Given the description of an element on the screen output the (x, y) to click on. 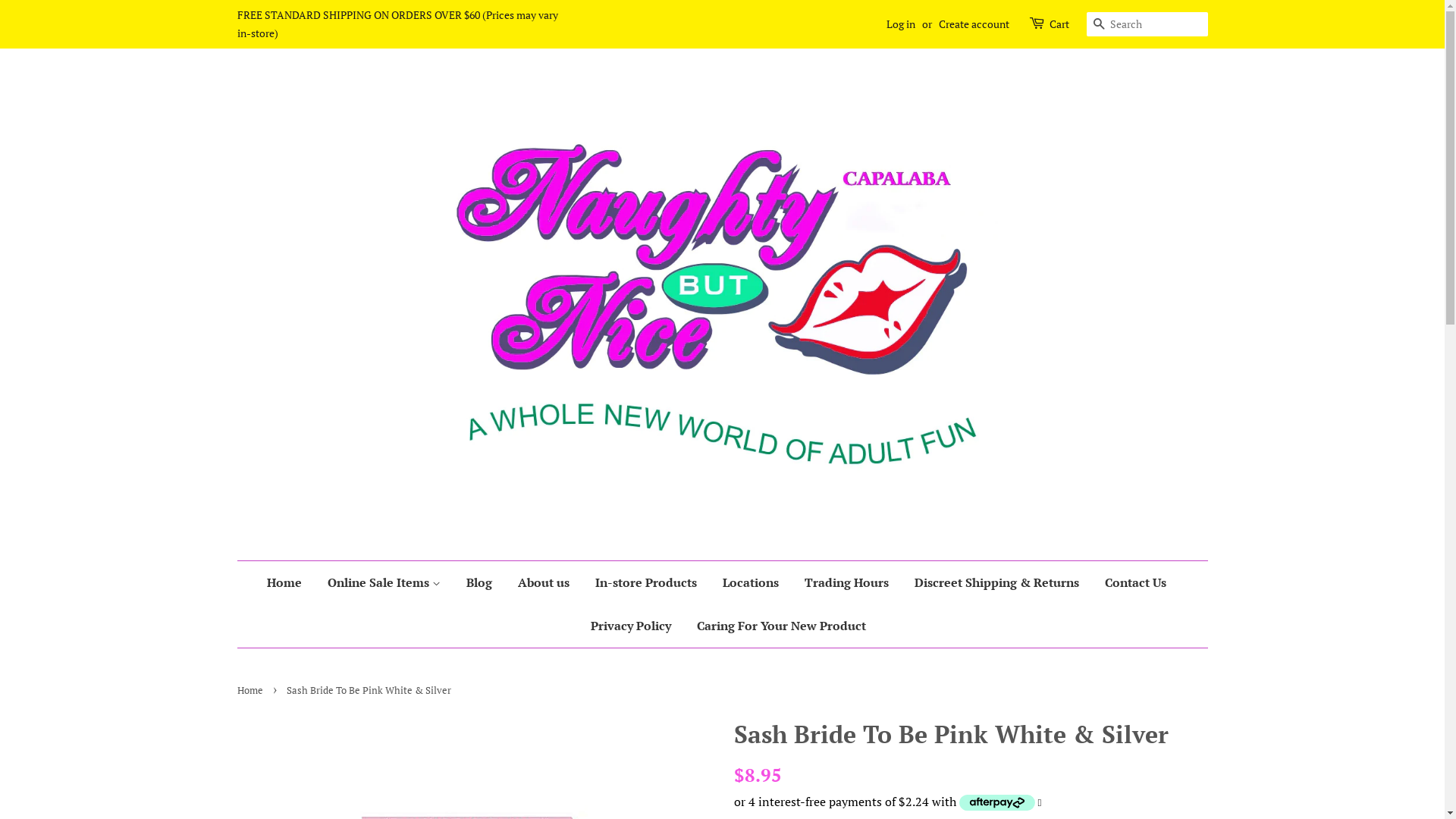
Caring For Your New Product Element type: text (775, 625)
Trading Hours Element type: text (846, 582)
Online Sale Items Element type: text (383, 582)
Cart Element type: text (1059, 24)
Contact Us Element type: text (1135, 582)
Privacy Policy Element type: text (630, 625)
Home Element type: text (289, 582)
In-store Products Element type: text (645, 582)
Search Element type: text (1097, 24)
Home Element type: text (251, 690)
Blog Element type: text (479, 582)
Create account Element type: text (973, 23)
Log in Element type: text (899, 23)
Discreet Shipping & Returns Element type: text (996, 582)
About us Element type: text (543, 582)
Locations Element type: text (750, 582)
